Given the description of an element on the screen output the (x, y) to click on. 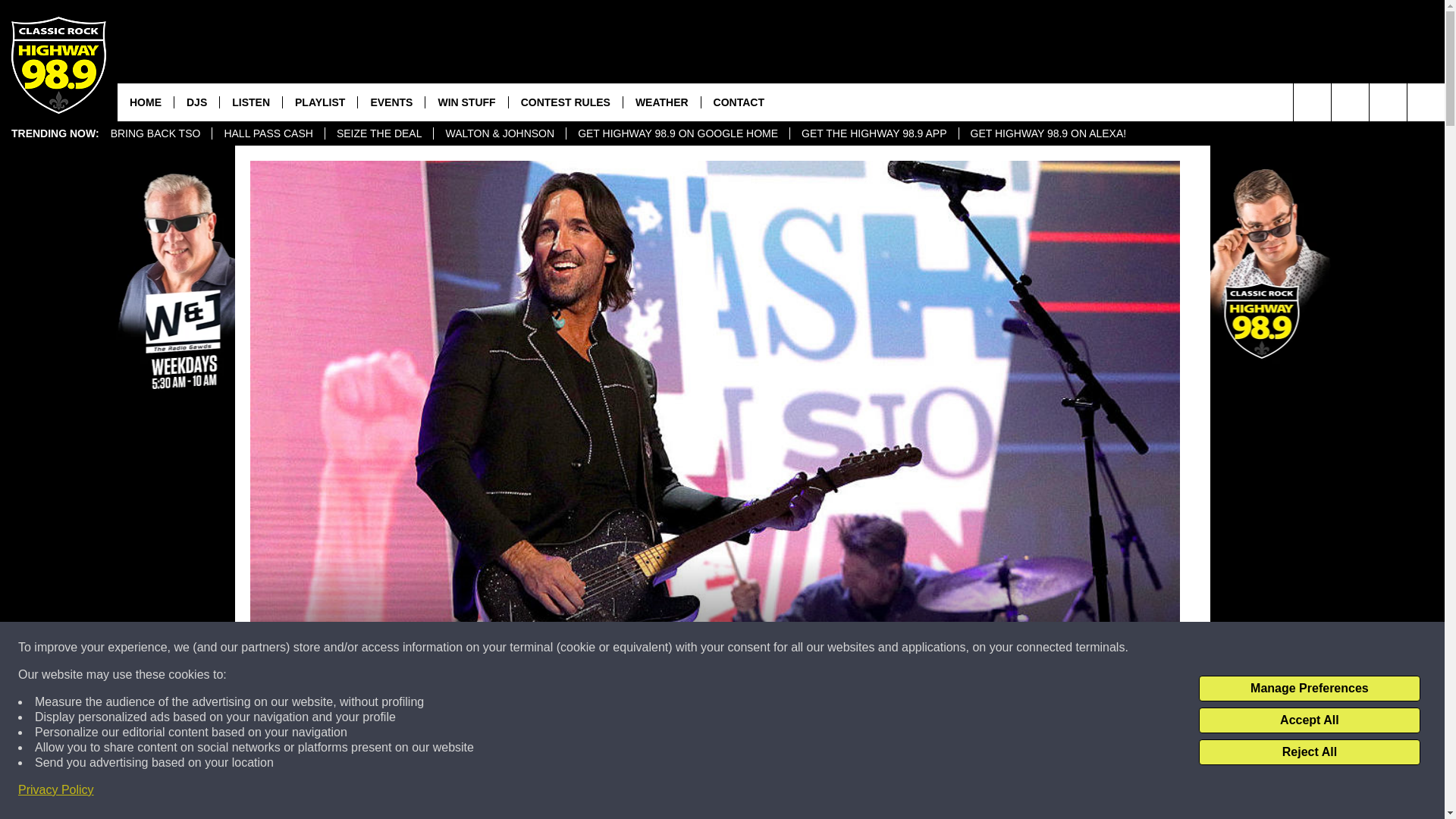
Reject All (1309, 751)
Accept All (1309, 720)
HOME (145, 102)
BRING BACK TSO (155, 133)
Manage Preferences (1309, 688)
Share on Twitter (912, 791)
Privacy Policy (55, 789)
PLAYLIST (319, 102)
LISTEN (250, 102)
DJS (196, 102)
GET HIGHWAY 98.9 ON ALEXA! (1048, 133)
Share on Facebook (517, 791)
HALL PASS CASH (267, 133)
EVENTS (390, 102)
GET THE HIGHWAY 98.9 APP (873, 133)
